Given the description of an element on the screen output the (x, y) to click on. 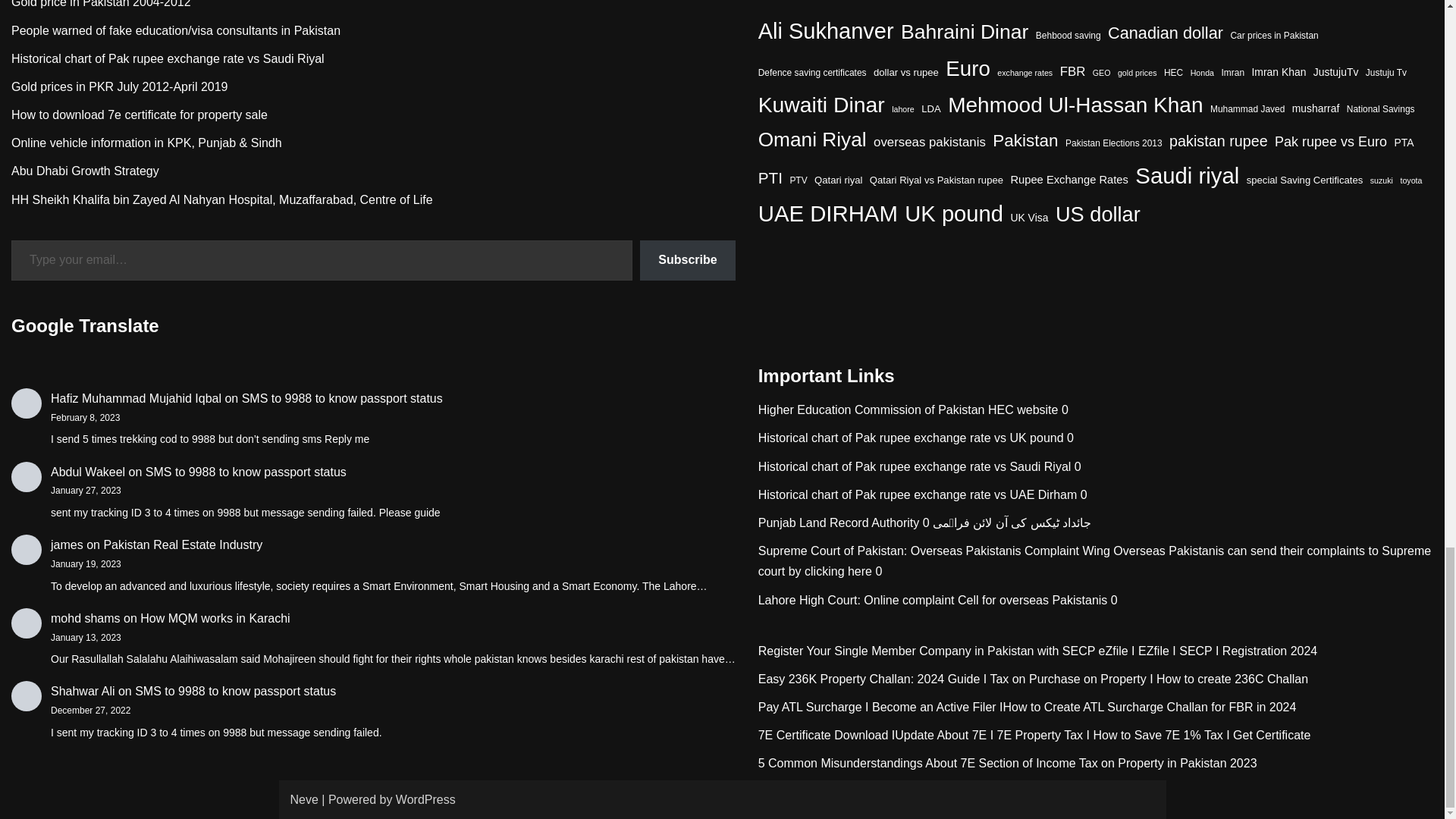
HEC website (871, 409)
Please fill in this field. (321, 260)
